Given the description of an element on the screen output the (x, y) to click on. 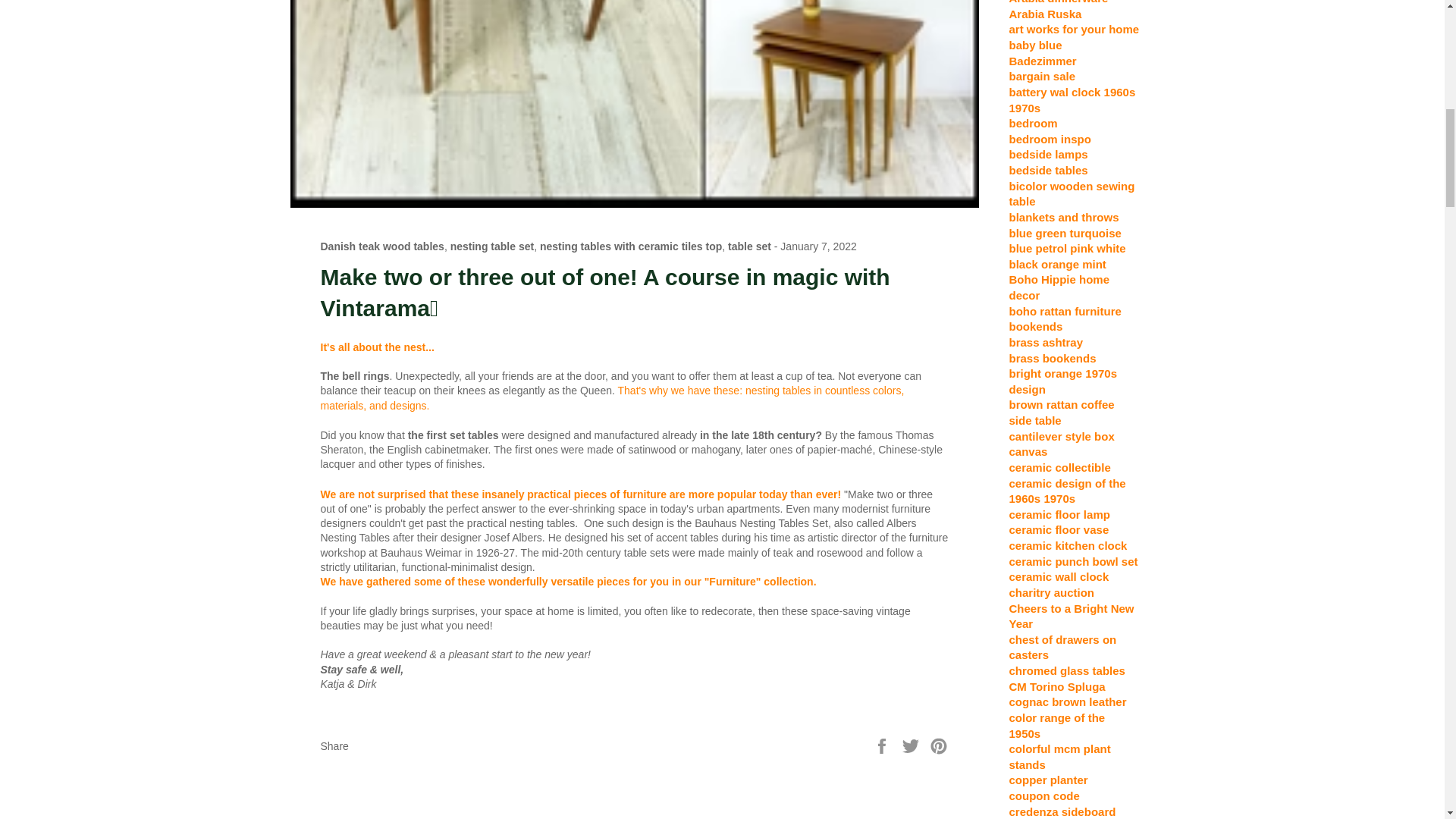
Tweet on Twitter (912, 745)
Pin on Pinterest (938, 745)
Share on Facebook (882, 745)
